Given the description of an element on the screen output the (x, y) to click on. 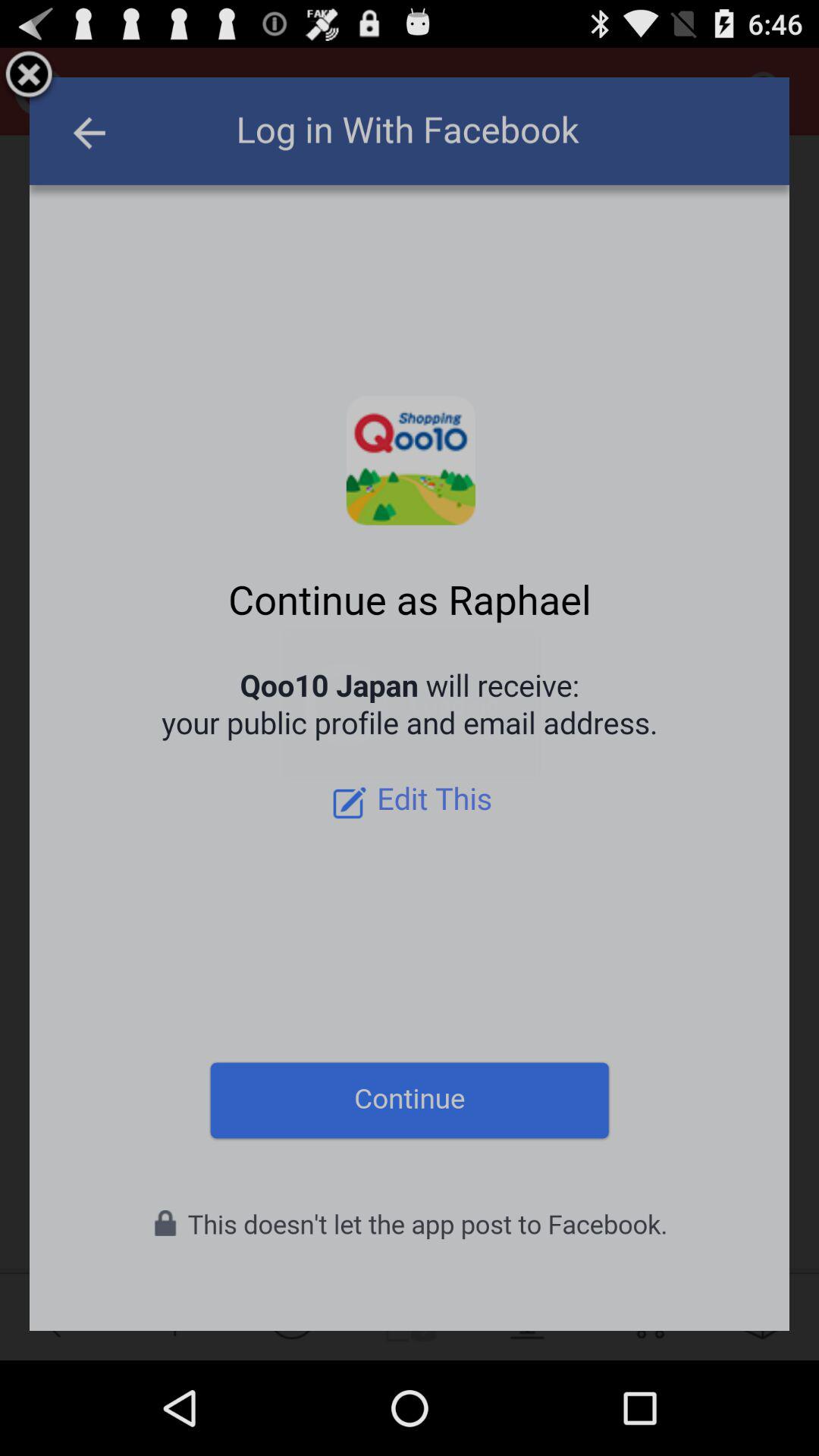
remove (29, 76)
